Given the description of an element on the screen output the (x, y) to click on. 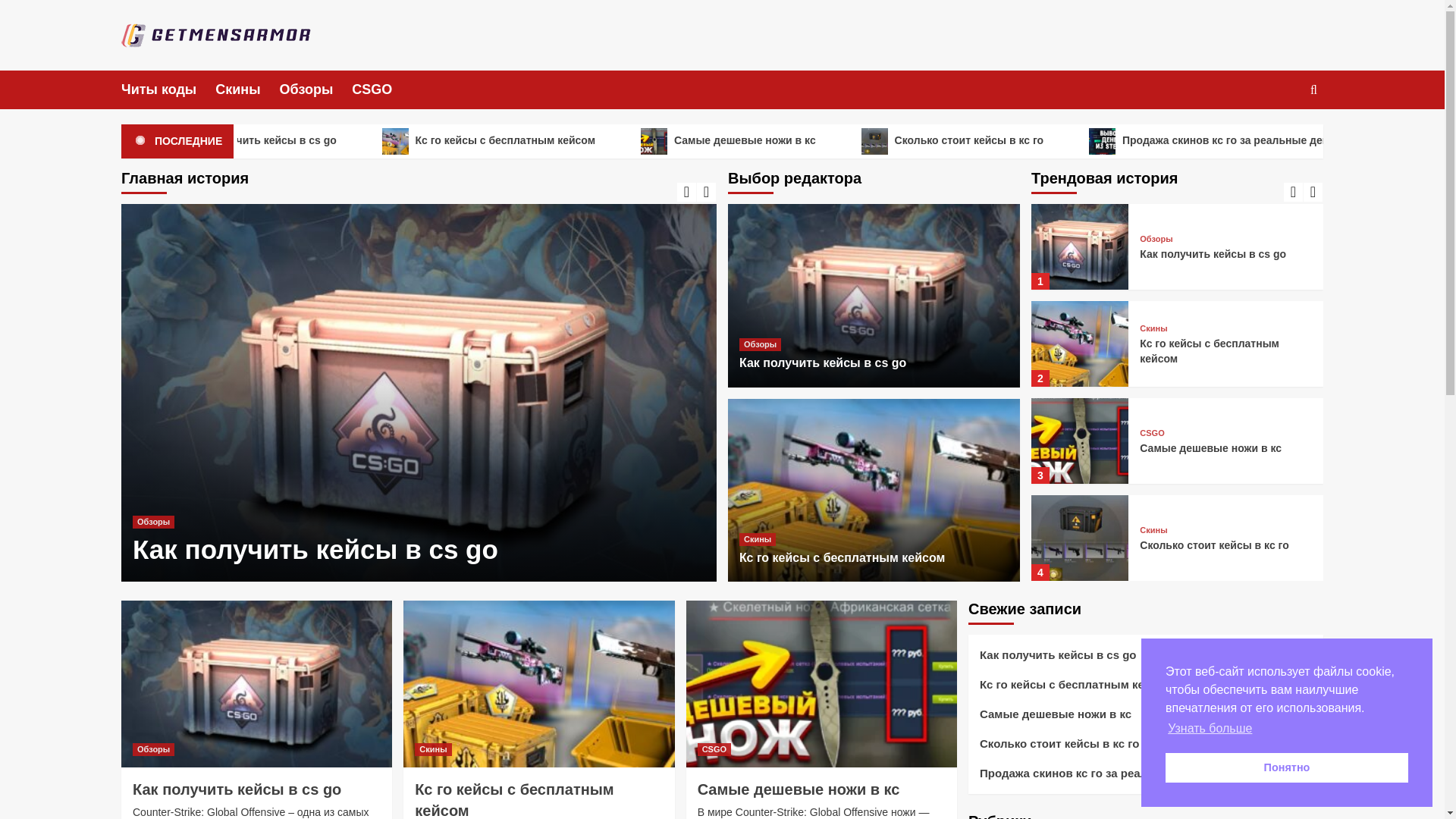
CSGO (381, 89)
